Given the description of an element on the screen output the (x, y) to click on. 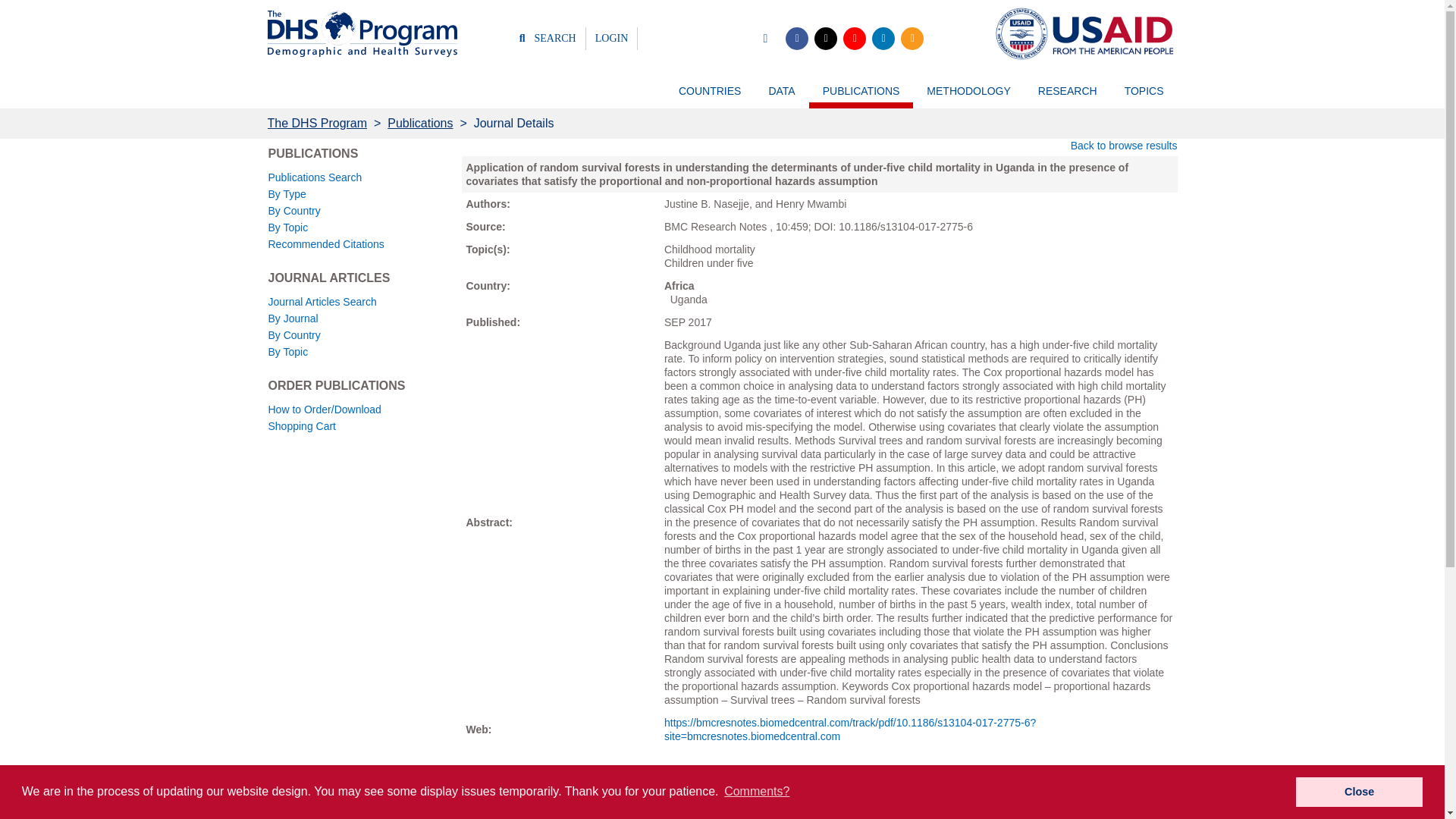
COUNTRIES (709, 96)
Learn more (491, 791)
Comments? (757, 791)
DATA (781, 96)
USAID (1081, 33)
Got it! (1358, 791)
PUBLICATIONS (861, 96)
METHODOLOGY (967, 96)
LOGIN (611, 38)
The DHS Program (361, 33)
